Given the description of an element on the screen output the (x, y) to click on. 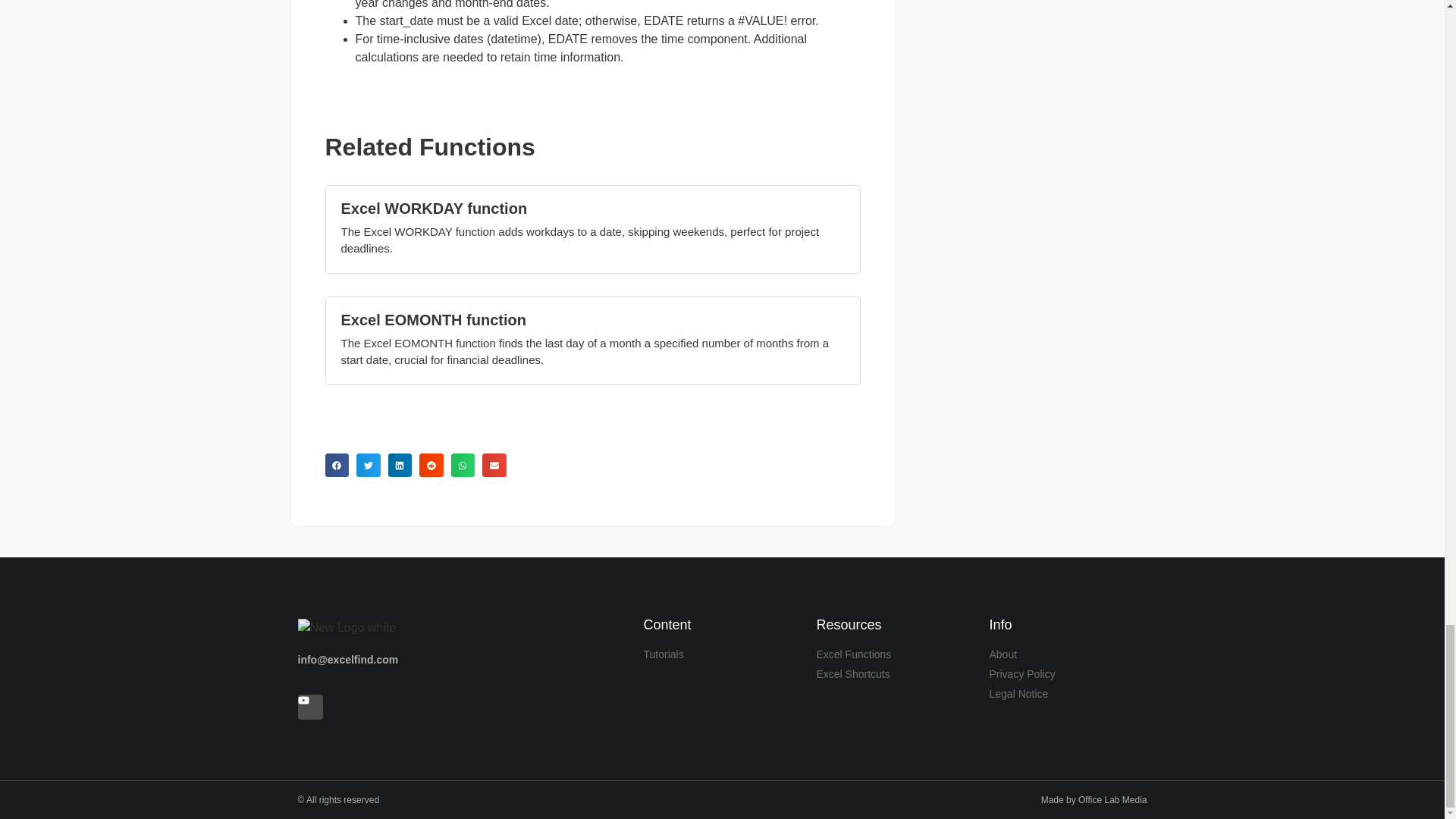
New Logo white (346, 628)
Legal Notice (1067, 693)
Tutorials (721, 654)
Privacy Policy (1067, 674)
Excel Functions (894, 654)
About (1067, 654)
Excel Shortcuts (894, 674)
